Given the description of an element on the screen output the (x, y) to click on. 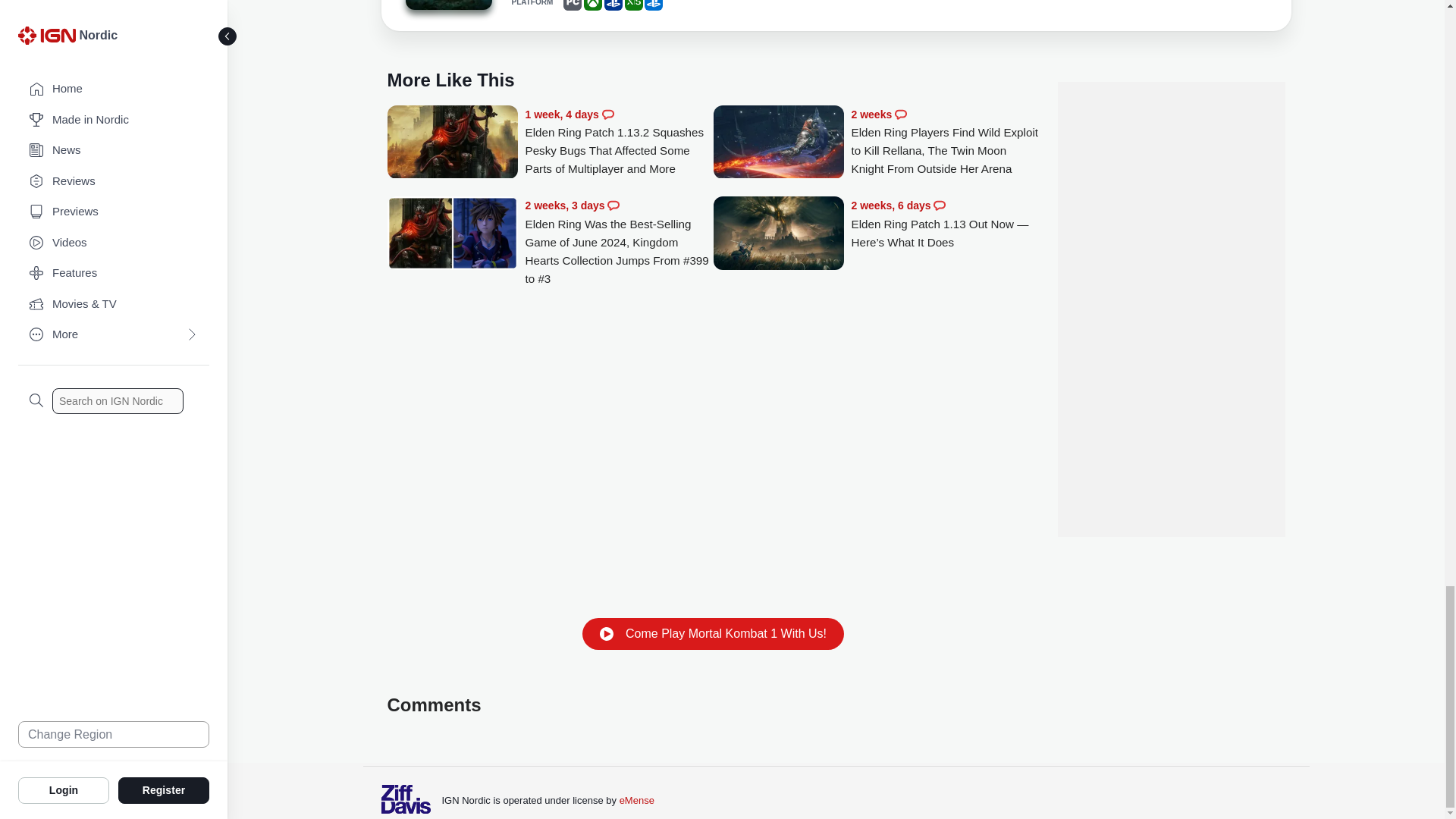
XBOXONE (592, 5)
PS5 (653, 5)
Elden Ring (448, 4)
XBOXSERIES (633, 5)
Elden Ring (448, 7)
PC (571, 5)
